Given the description of an element on the screen output the (x, y) to click on. 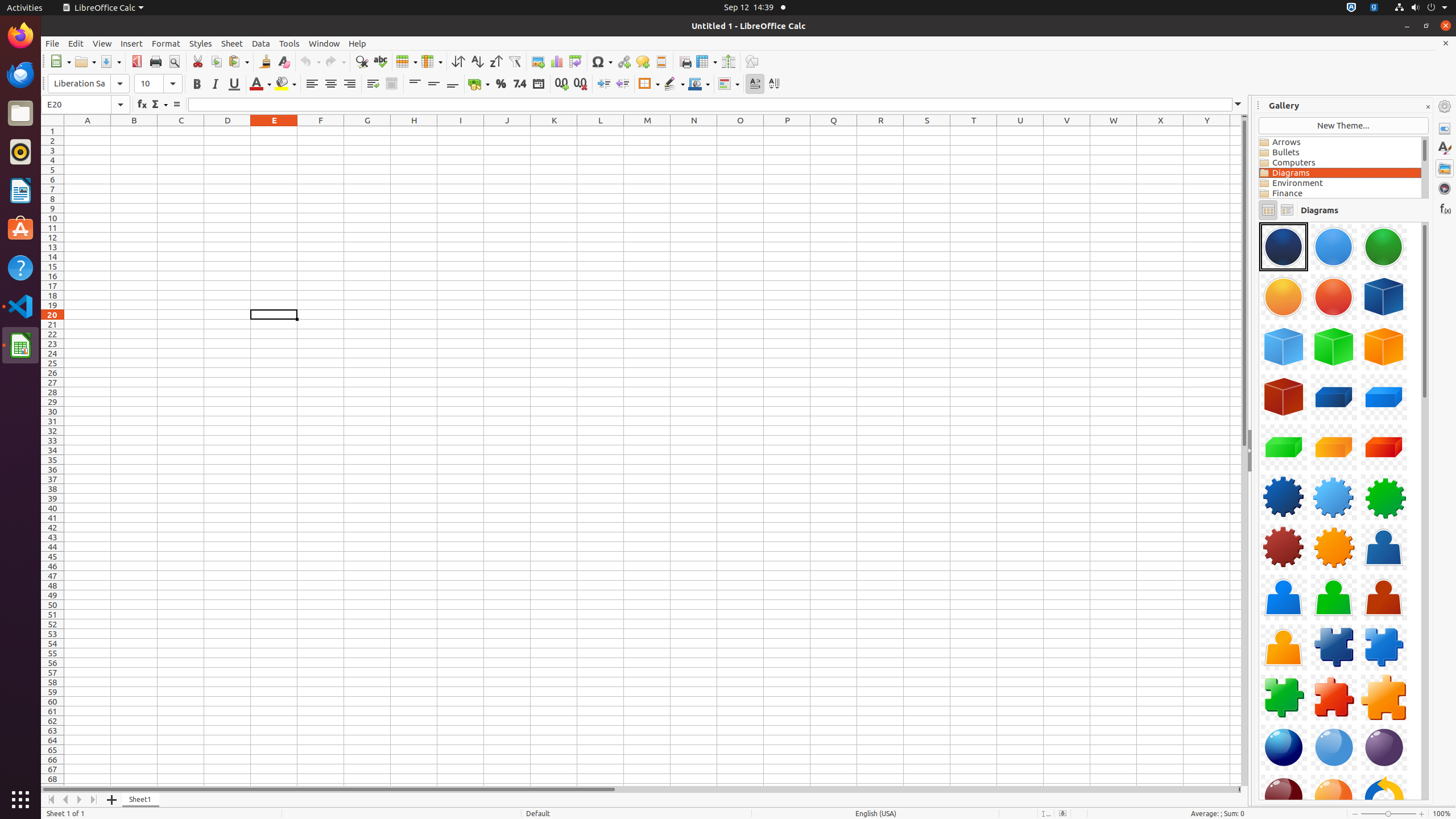
Arrows Element type: list-item (1340, 142)
S1 Element type: table-cell (926, 130)
Edit Element type: menu (75, 43)
New Theme Element type: push-button (1343, 125)
N1 Element type: table-cell (693, 130)
